Given the description of an element on the screen output the (x, y) to click on. 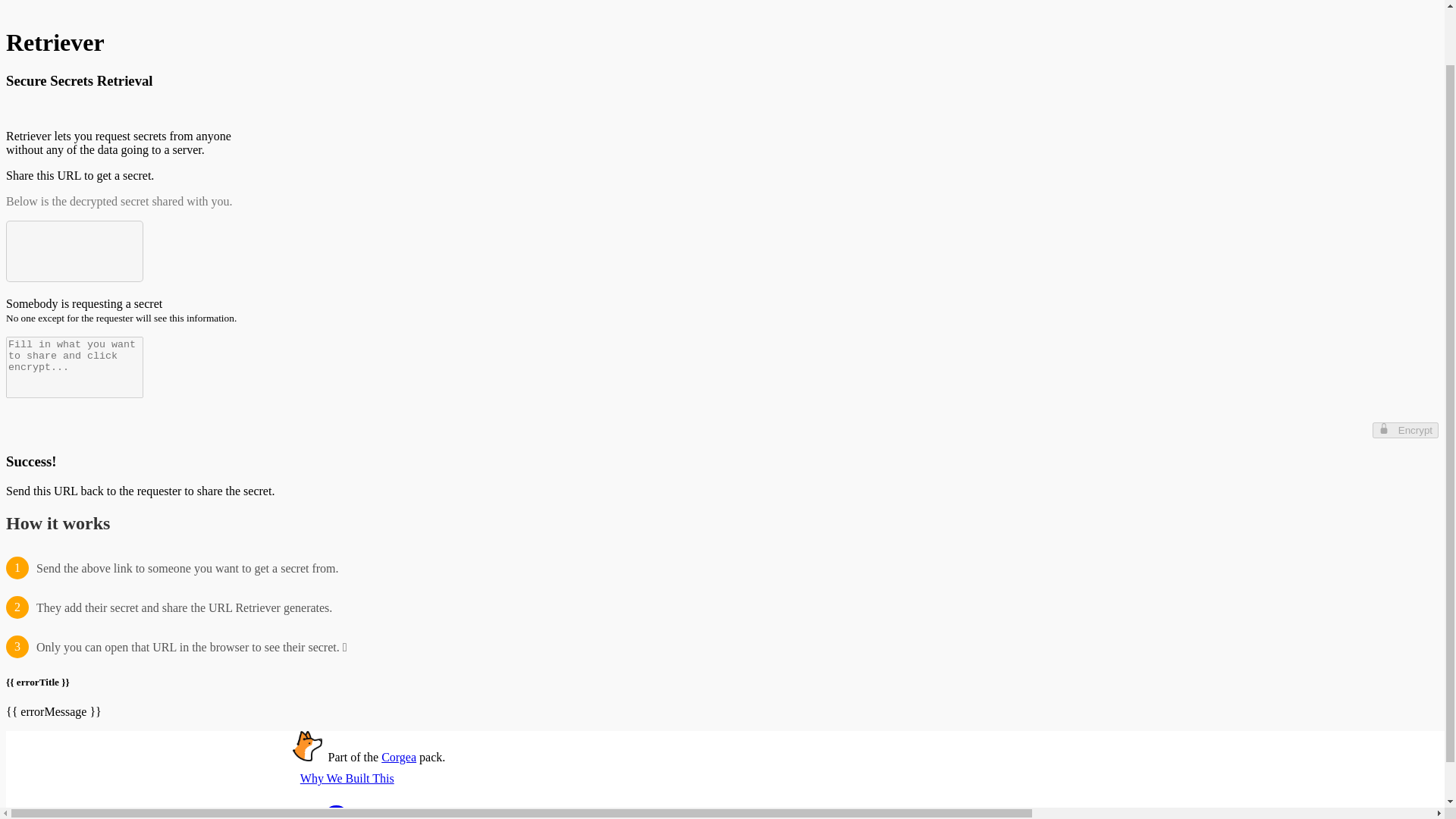
Corgea (398, 757)
Why We Built This (346, 778)
Encrypt (1405, 430)
